Given the description of an element on the screen output the (x, y) to click on. 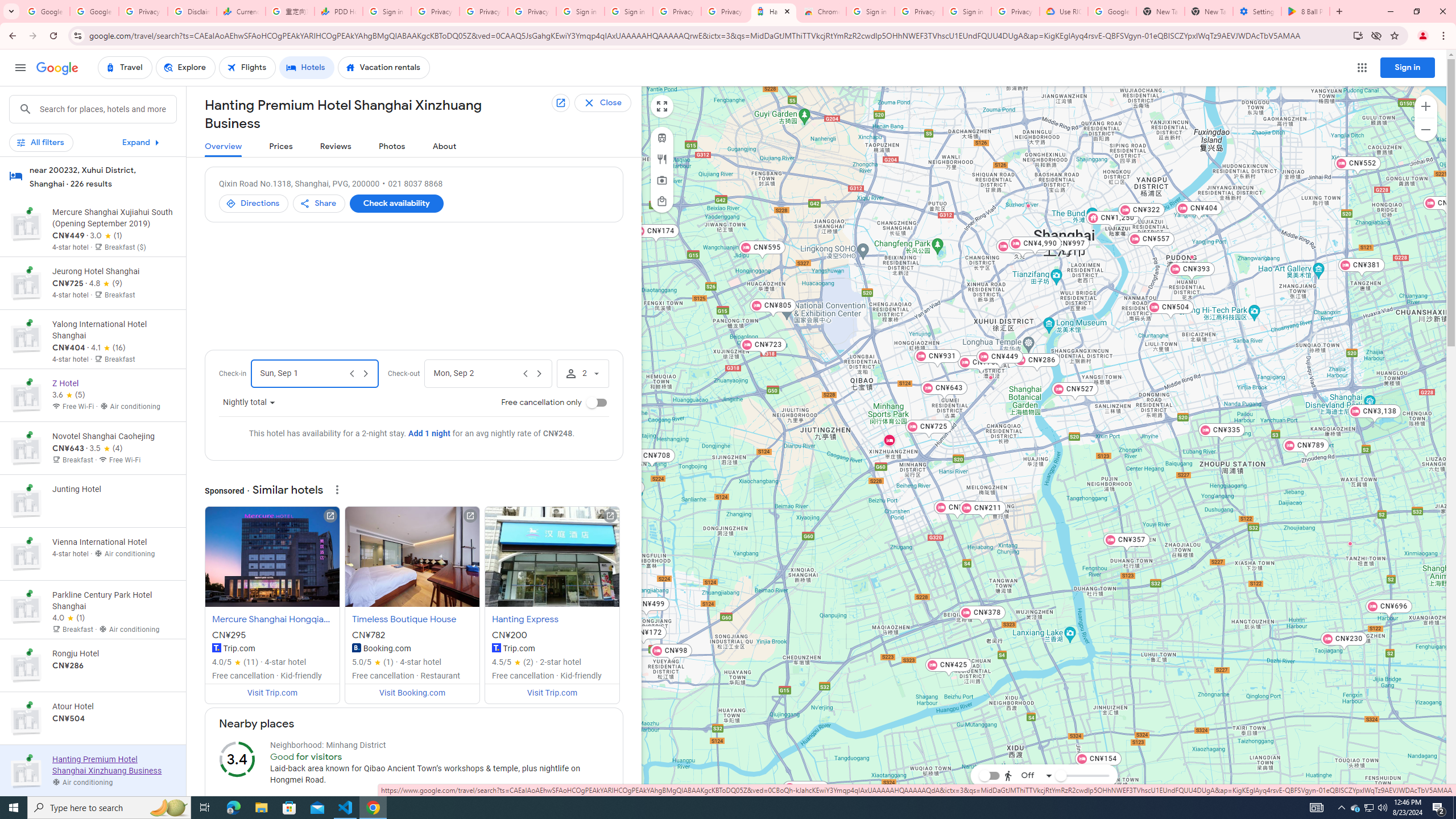
3 out of 5 stars from 1 reviews (106, 235)
Chrome Web Store - Color themes by Chrome (822, 11)
Check-out (475, 373)
Drive (1025, 743)
Map Scale: 2 km per 61 pixels (1393, 791)
Free cancellation only (596, 402)
Photos (392, 146)
Share (319, 203)
